Given the description of an element on the screen output the (x, y) to click on. 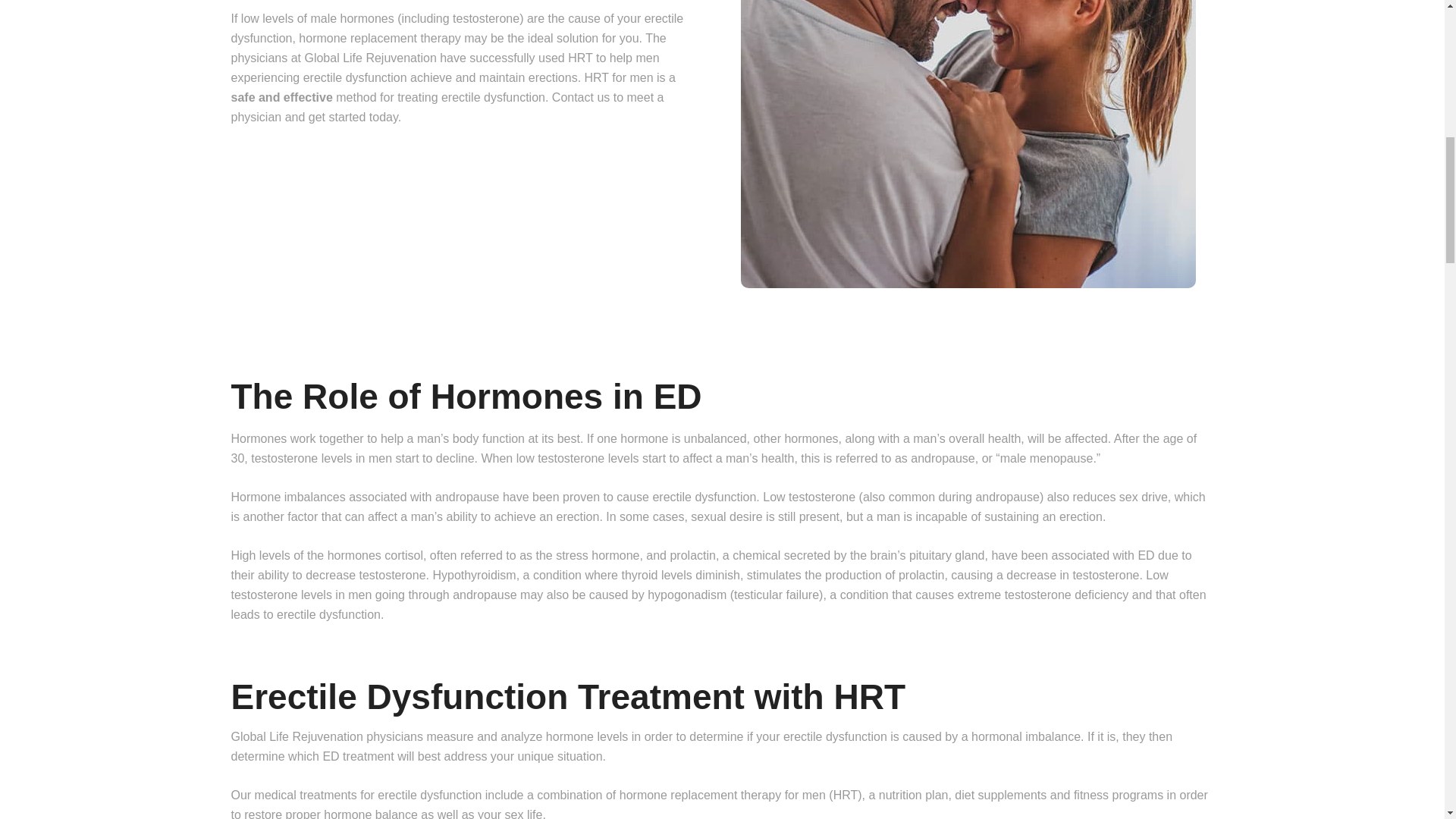
HOW GHK-CU MAY HELP YOU ACHIEVE FLAWLESS SKIN 7 (967, 144)
